Given the description of an element on the screen output the (x, y) to click on. 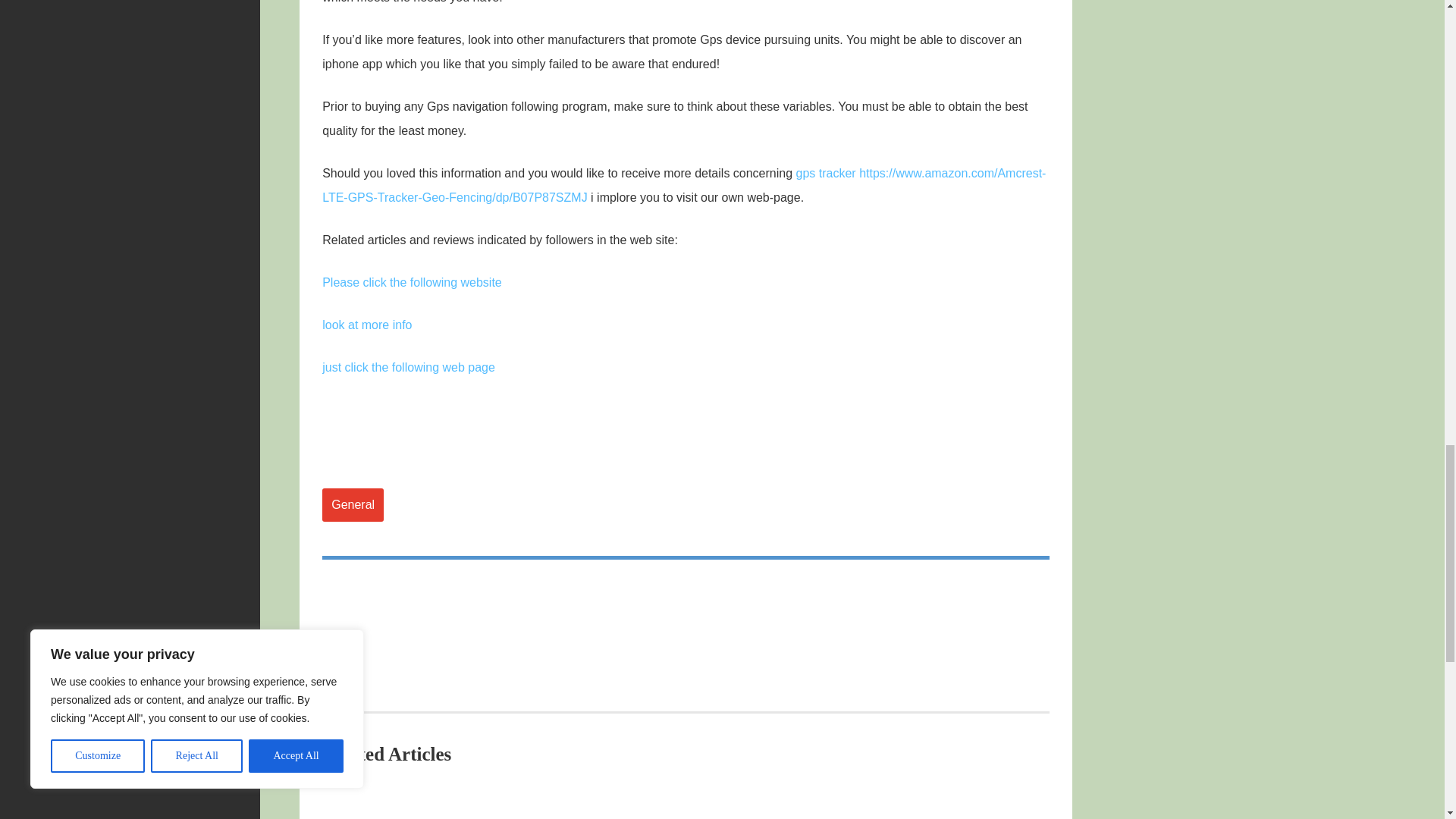
look at more info (366, 324)
General (352, 504)
Please click the following website (411, 282)
just click the following web page (408, 367)
